Given the description of an element on the screen output the (x, y) to click on. 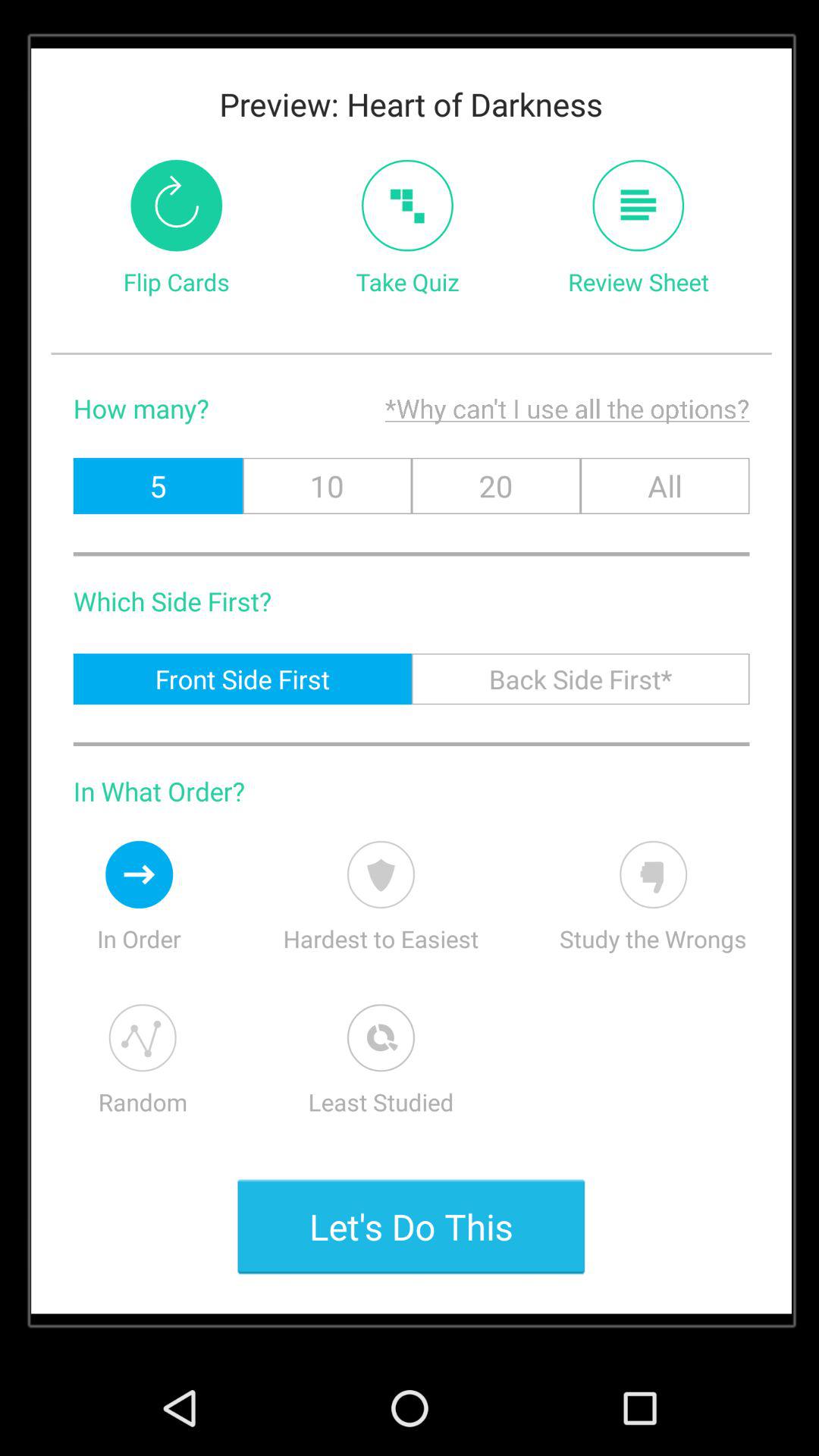
orange box flashing on dislike sign (653, 874)
